Given the description of an element on the screen output the (x, y) to click on. 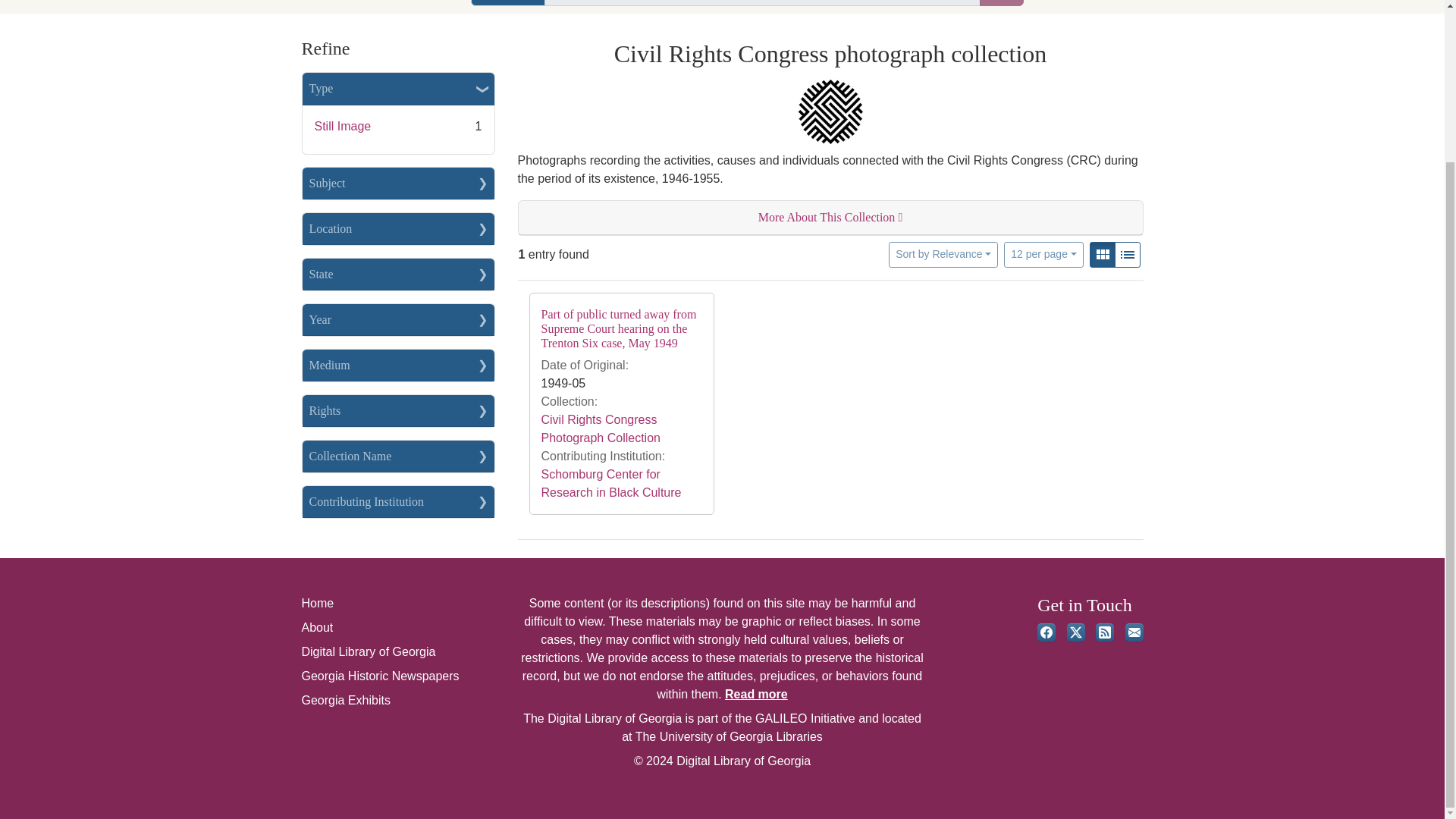
Gallery (1102, 254)
Contact Us (1133, 632)
Blog (1104, 632)
List (1126, 254)
Facebook (1046, 632)
Twitter (1075, 632)
Facebook (1045, 632)
Contact Us (1134, 632)
List (1127, 254)
Gallery (1102, 254)
Blog (1104, 632)
